Given the description of an element on the screen output the (x, y) to click on. 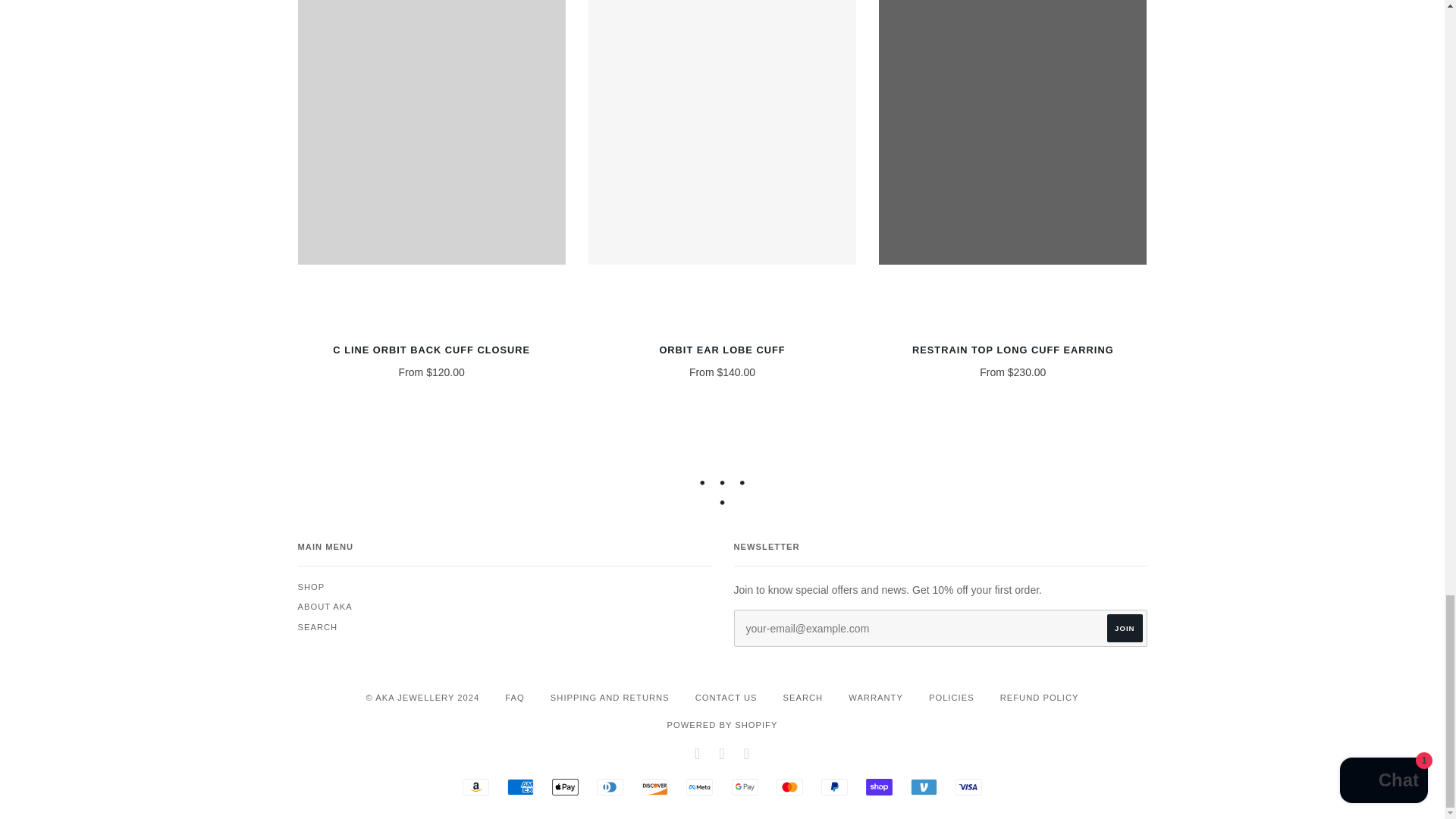
DINERS CLUB (609, 786)
APPLE PAY (564, 786)
AMAZON (476, 786)
DISCOVER (655, 786)
AMERICAN EXPRESS (520, 786)
Join (1123, 628)
